Given the description of an element on the screen output the (x, y) to click on. 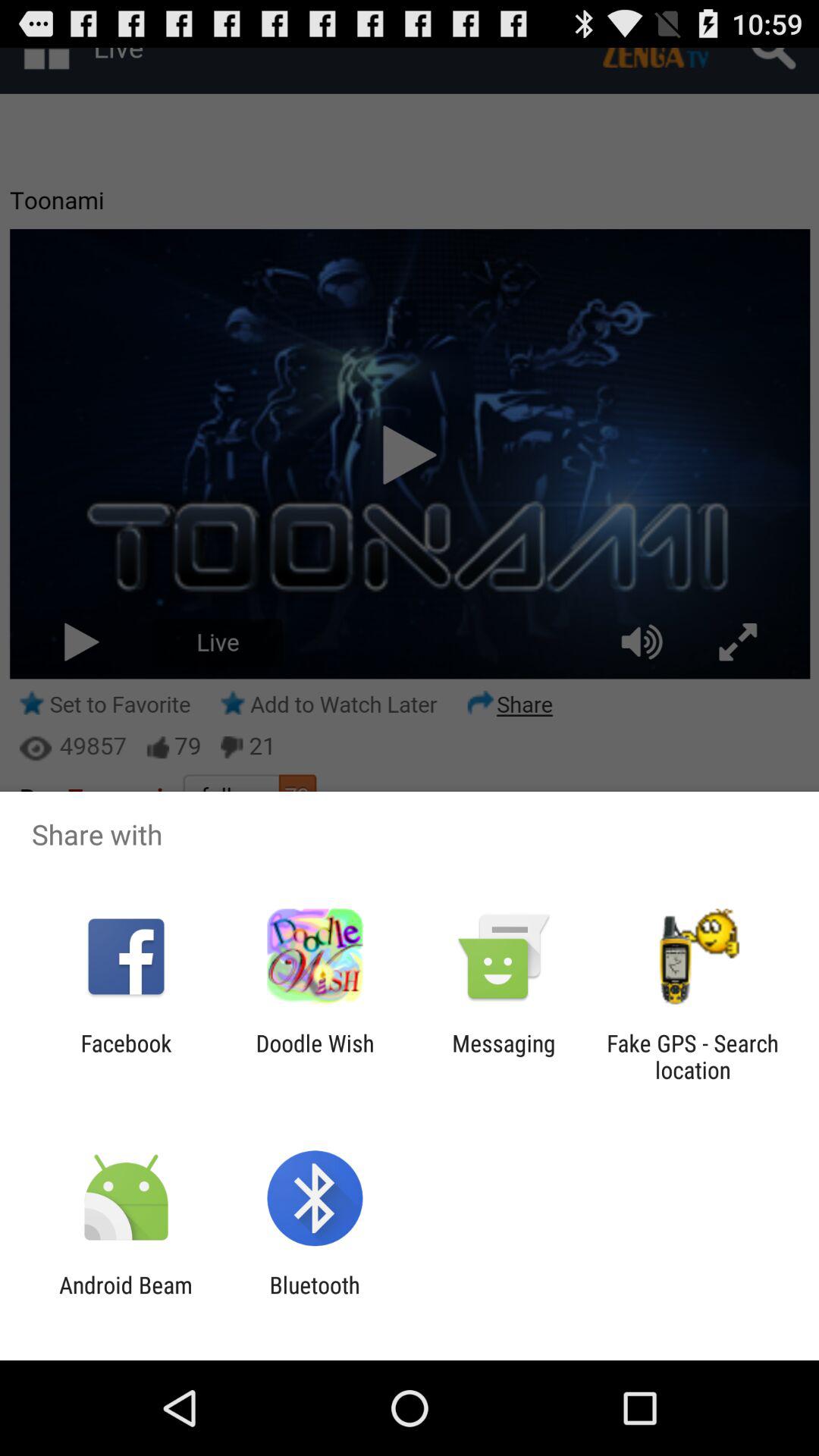
tap the icon next to the facebook icon (314, 1056)
